Given the description of an element on the screen output the (x, y) to click on. 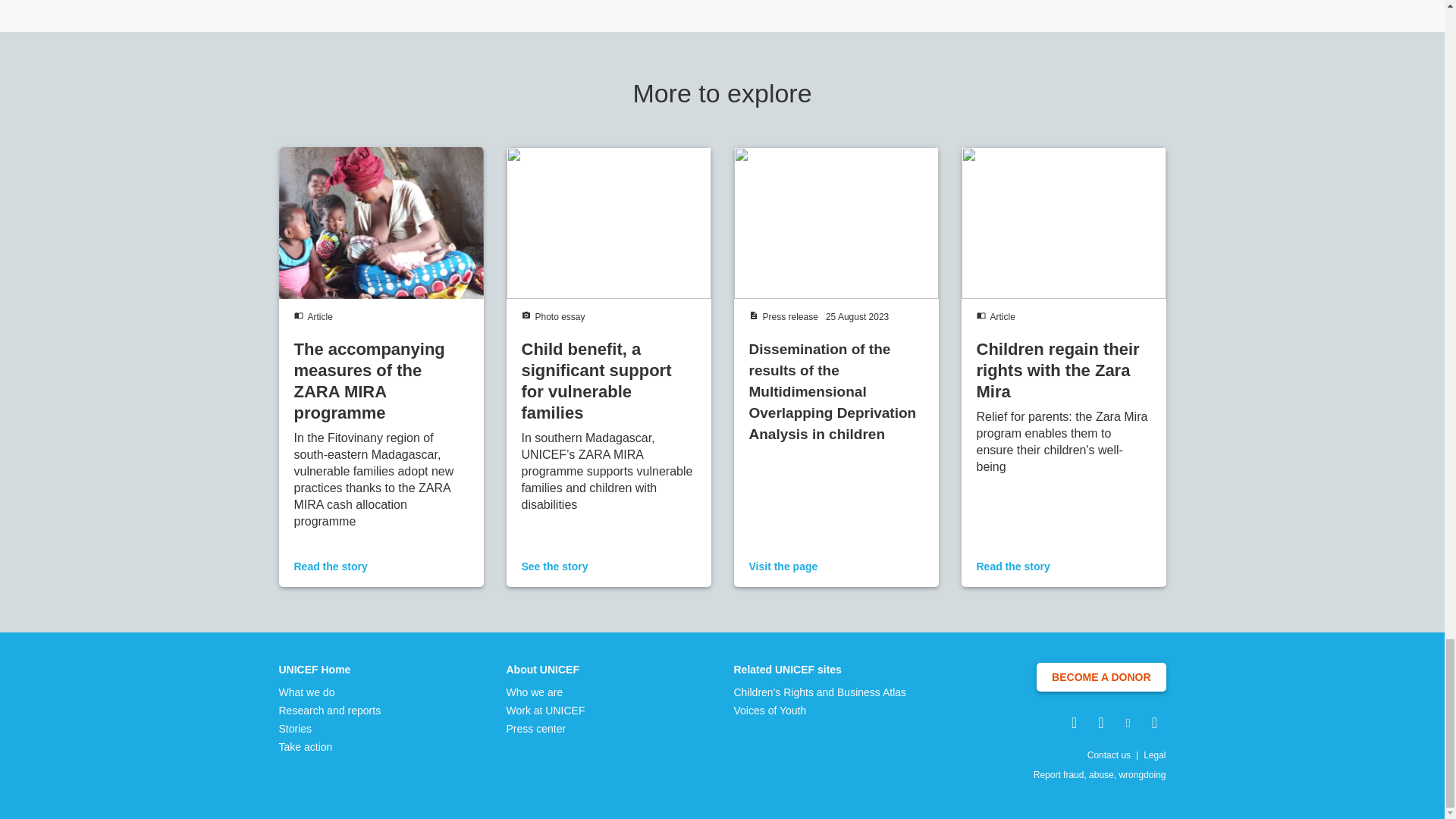
Research and reports (330, 710)
Children's Rights and Business Atlas (820, 692)
Press center (545, 728)
Research and reports (330, 710)
What we do (330, 692)
Work at UNICEF (545, 710)
Stories (330, 728)
Stories (330, 728)
UNICEF Home (330, 669)
Take action (330, 746)
What we do (330, 692)
UNICEF Home (330, 669)
Who we are (545, 692)
Take action (330, 746)
Who we are (545, 692)
